Given the description of an element on the screen output the (x, y) to click on. 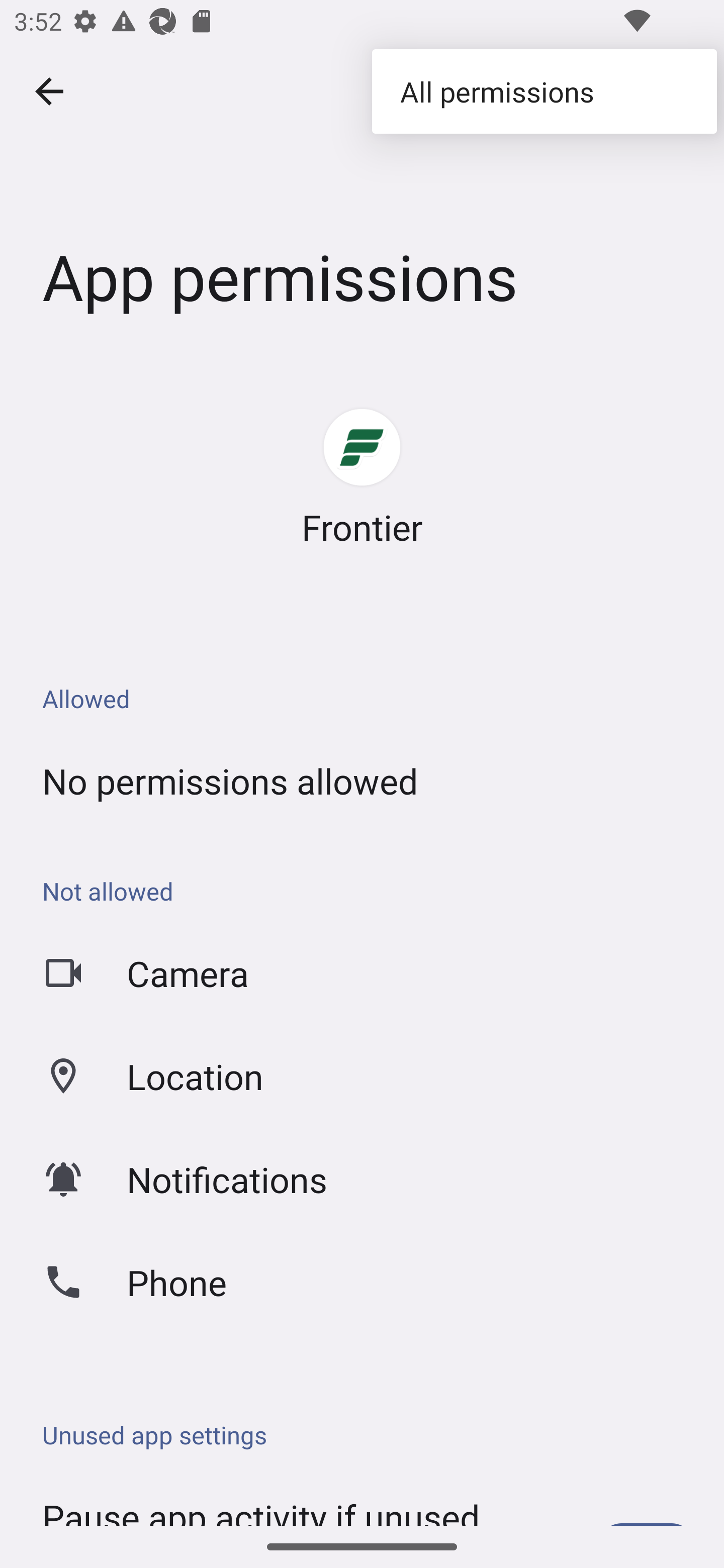
All permissions (544, 90)
